Given the description of an element on the screen output the (x, y) to click on. 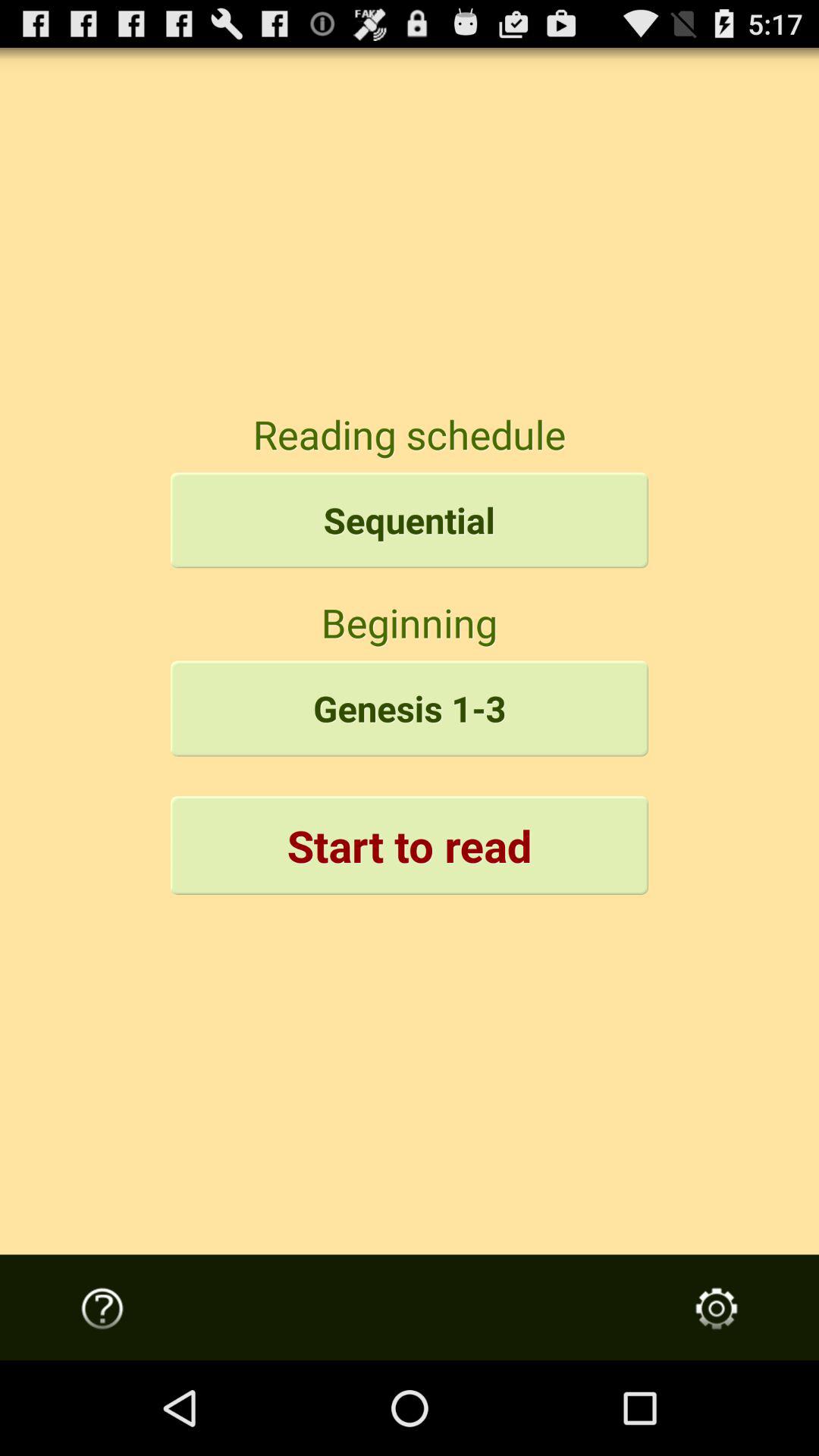
tap start to read button (409, 845)
